Given the description of an element on the screen output the (x, y) to click on. 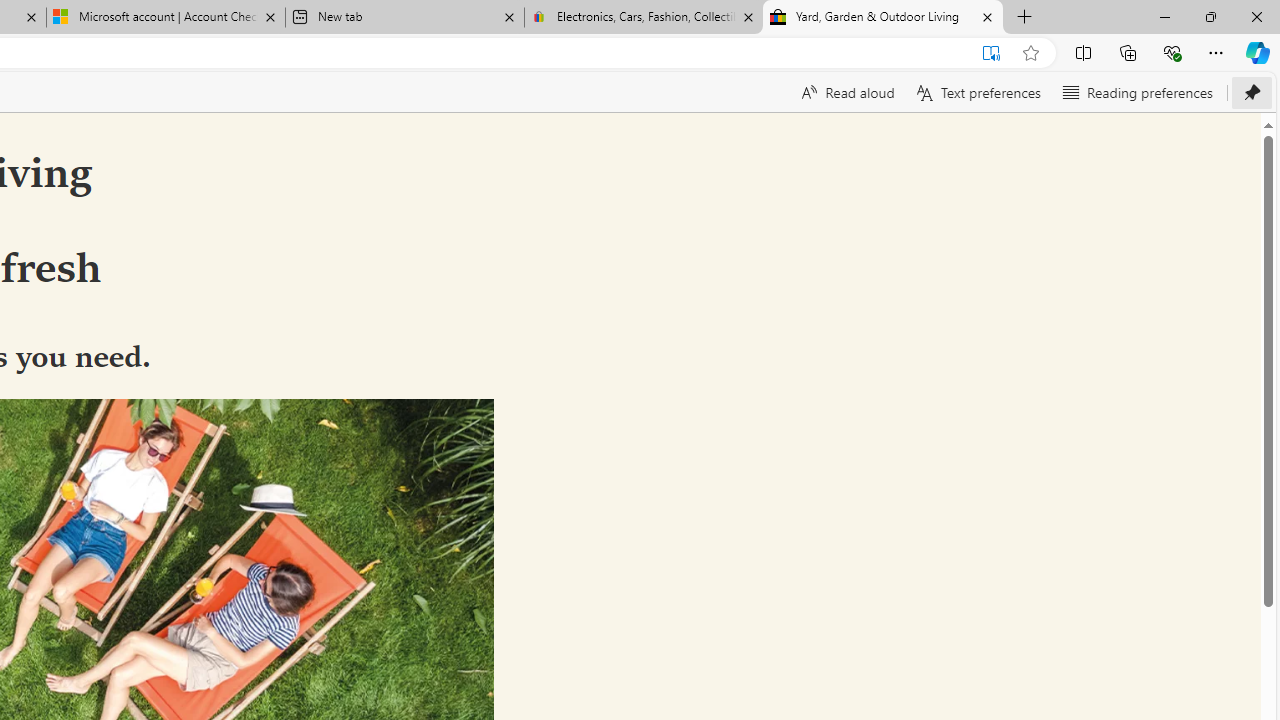
Unpin toolbar (1252, 92)
Reading preferences (1136, 92)
Read aloud (846, 92)
